Given the description of an element on the screen output the (x, y) to click on. 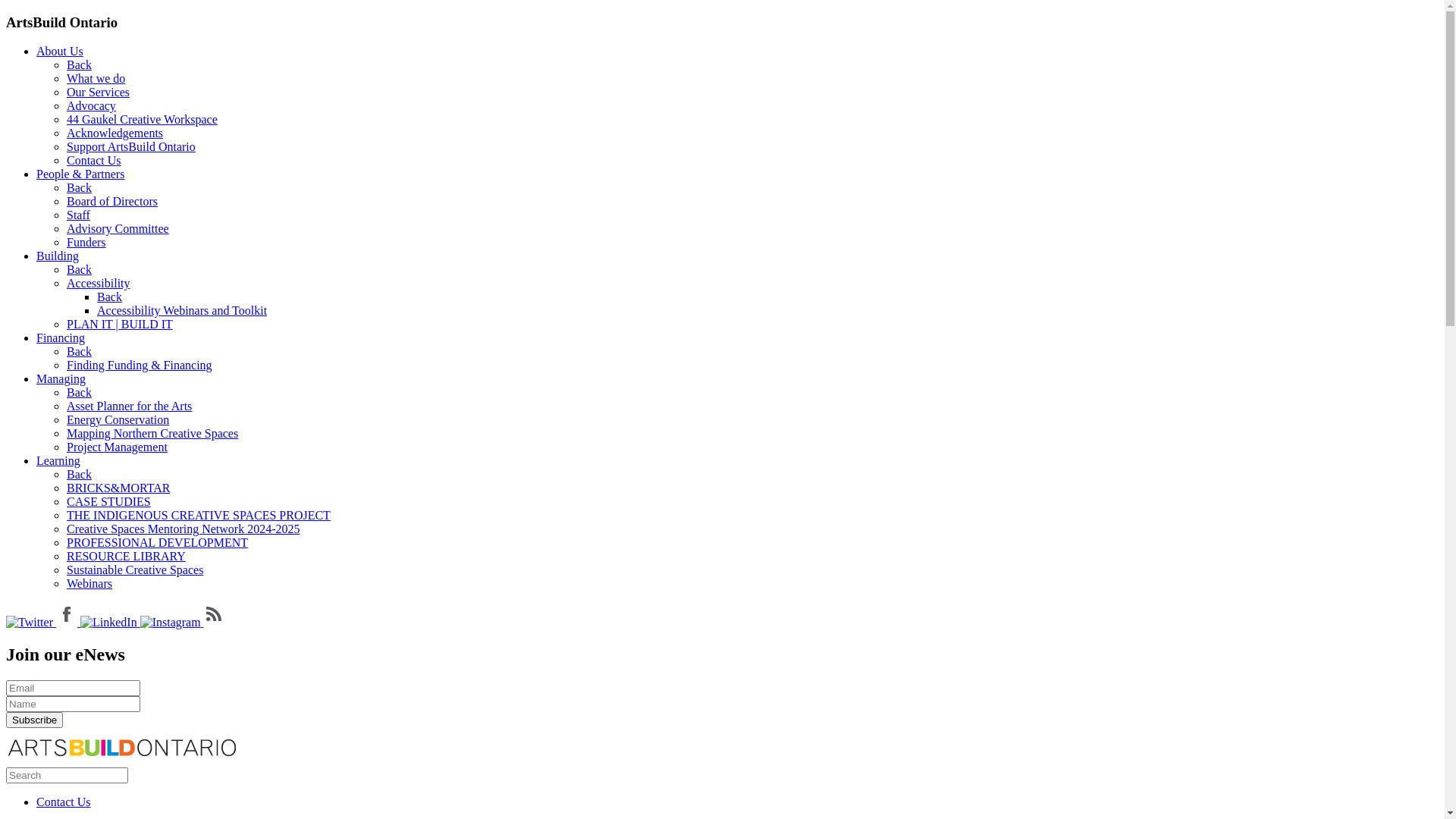
Back Element type: text (78, 187)
People & Partners Element type: text (80, 173)
Sustainable Creative Spaces Element type: text (134, 569)
Staff Element type: text (78, 214)
Energy Conservation Element type: text (117, 419)
44 Gaukel Creative Workspace Element type: text (141, 118)
Managing Element type: text (60, 378)
Subscribe Element type: text (34, 720)
BRICKS&MORTAR Element type: text (117, 487)
RESOURCE LIBRARY Element type: text (125, 555)
Acknowledgements Element type: text (114, 132)
Project Management Element type: text (116, 446)
Funders Element type: text (86, 241)
Support ArtsBuild Ontario Element type: text (130, 146)
THE INDIGENOUS CREATIVE SPACES PROJECT Element type: text (198, 514)
Back Element type: text (78, 351)
Back Element type: text (78, 269)
What we do Element type: text (95, 78)
Our Services Element type: text (97, 91)
Webinars Element type: text (89, 583)
Contact Us Element type: text (93, 159)
PLAN IT | BUILD IT Element type: text (119, 323)
Accessibility Element type: text (98, 282)
Back Element type: text (78, 391)
Building Element type: text (57, 255)
Contact Us Element type: text (63, 801)
Asset Planner for the Arts Element type: text (128, 405)
Back Element type: text (109, 296)
CASE STUDIES Element type: text (108, 501)
Advocacy Element type: text (91, 105)
Creative Spaces Mentoring Network 2024-2025 Element type: text (182, 528)
Back Element type: text (78, 473)
Mapping Northern Creative Spaces Element type: text (152, 432)
Finding Funding & Financing Element type: text (139, 364)
About Us Element type: text (59, 50)
Learning Element type: text (58, 460)
Board of Directors Element type: text (111, 200)
Back Element type: text (78, 64)
Accessibility Webinars and Toolkit Element type: text (181, 310)
Financing Element type: text (60, 337)
Advisory Committee Element type: text (117, 228)
PROFESSIONAL DEVELOPMENT Element type: text (156, 542)
